Given the description of an element on the screen output the (x, y) to click on. 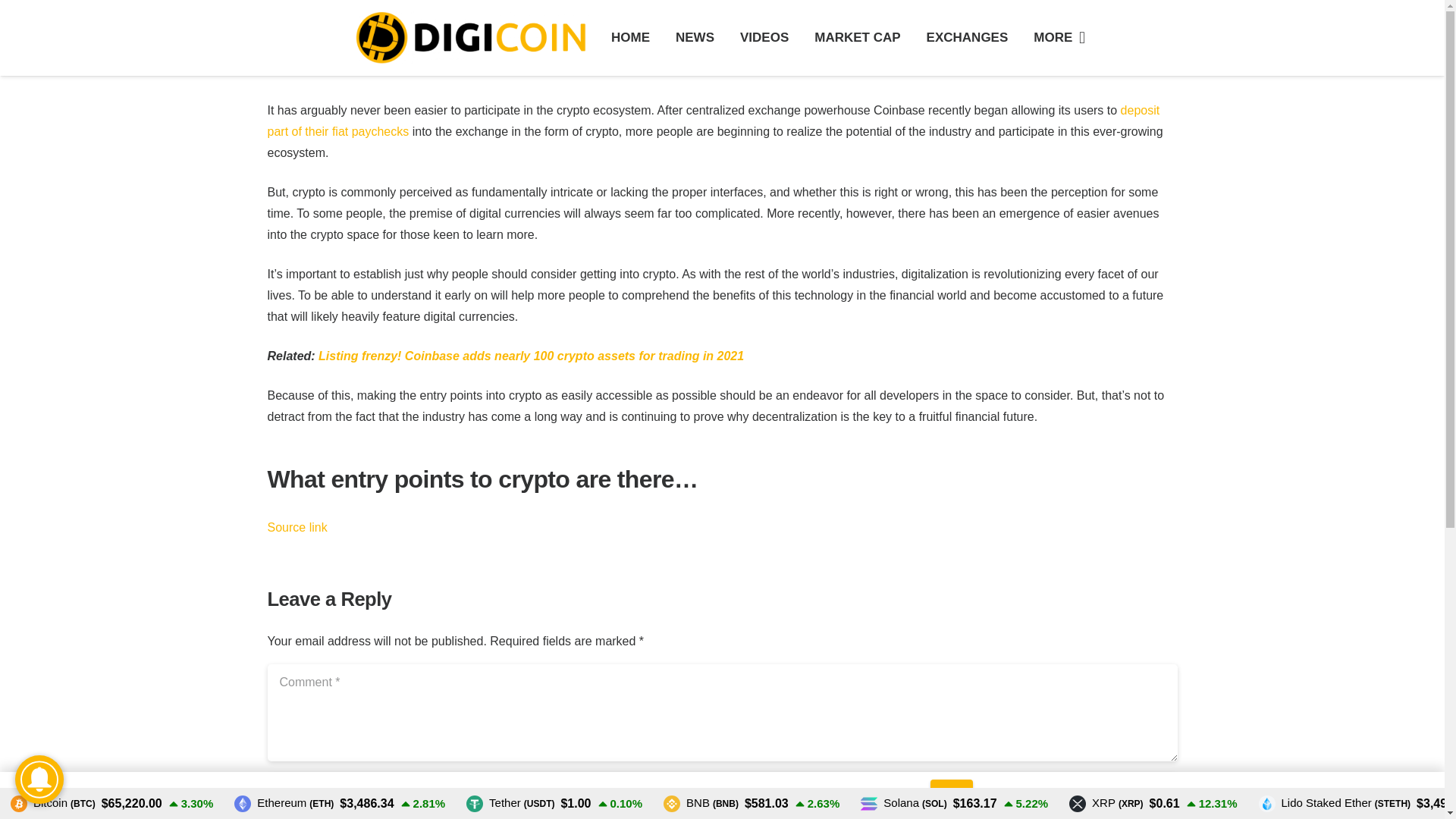
WWW.DIGICOIN.NEWS (721, 686)
Source link (296, 526)
Opportunities (167, 615)
Tether (509, 803)
Bitcoin (53, 803)
BNB (700, 803)
VIDEOS (764, 38)
deposit part of their fiat paychecks (712, 121)
Contact (150, 650)
MARKET CAP (857, 38)
Lido Staked Ether (1334, 803)
Ethereum (283, 803)
Solana (903, 803)
MORE (1058, 38)
